Given the description of an element on the screen output the (x, y) to click on. 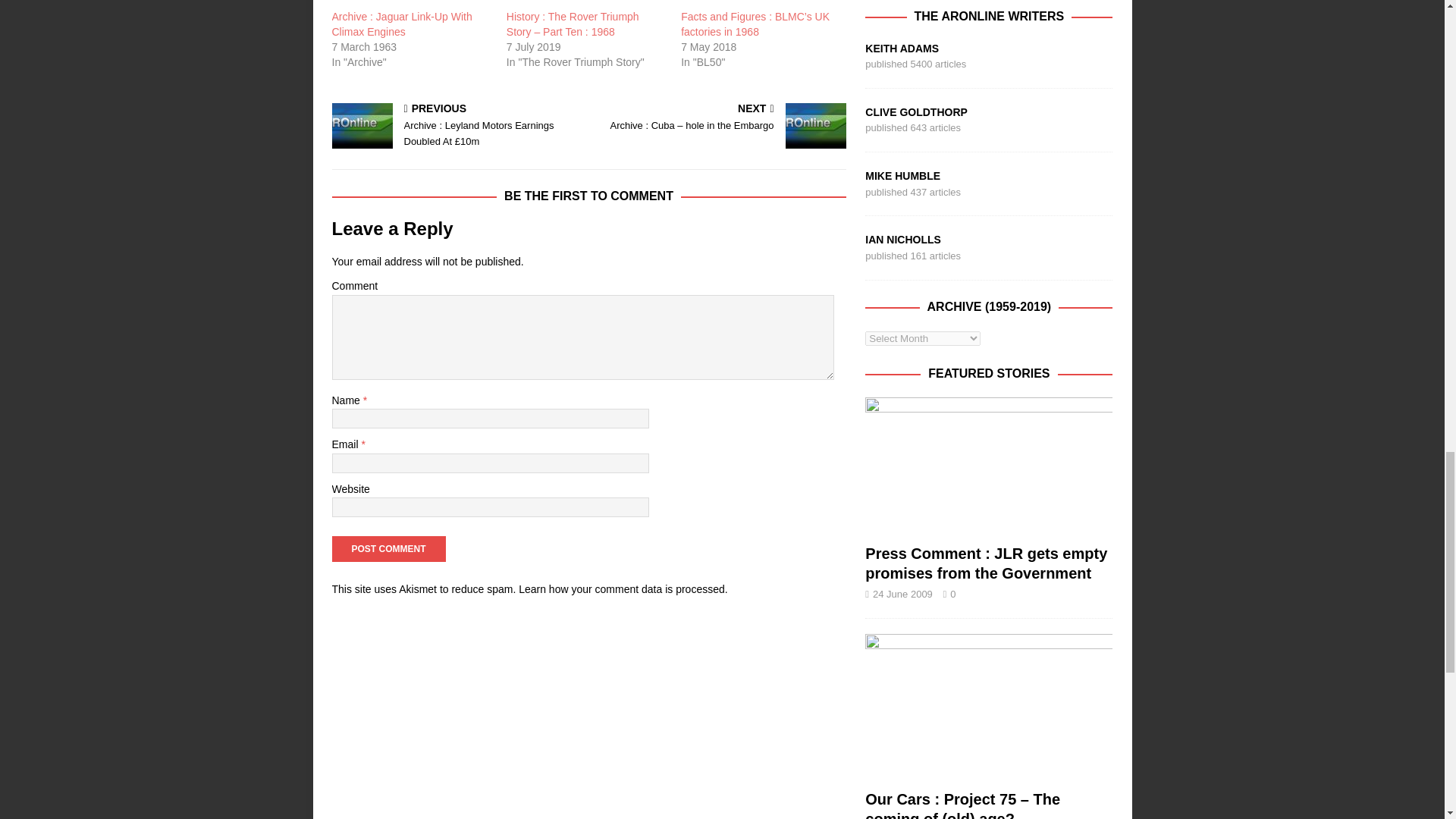
Post Comment (388, 548)
Archive : Jaguar Link-Up With Climax Engines (411, 4)
Archive : Jaguar Link-Up With Climax Engines (401, 23)
